Given the description of an element on the screen output the (x, y) to click on. 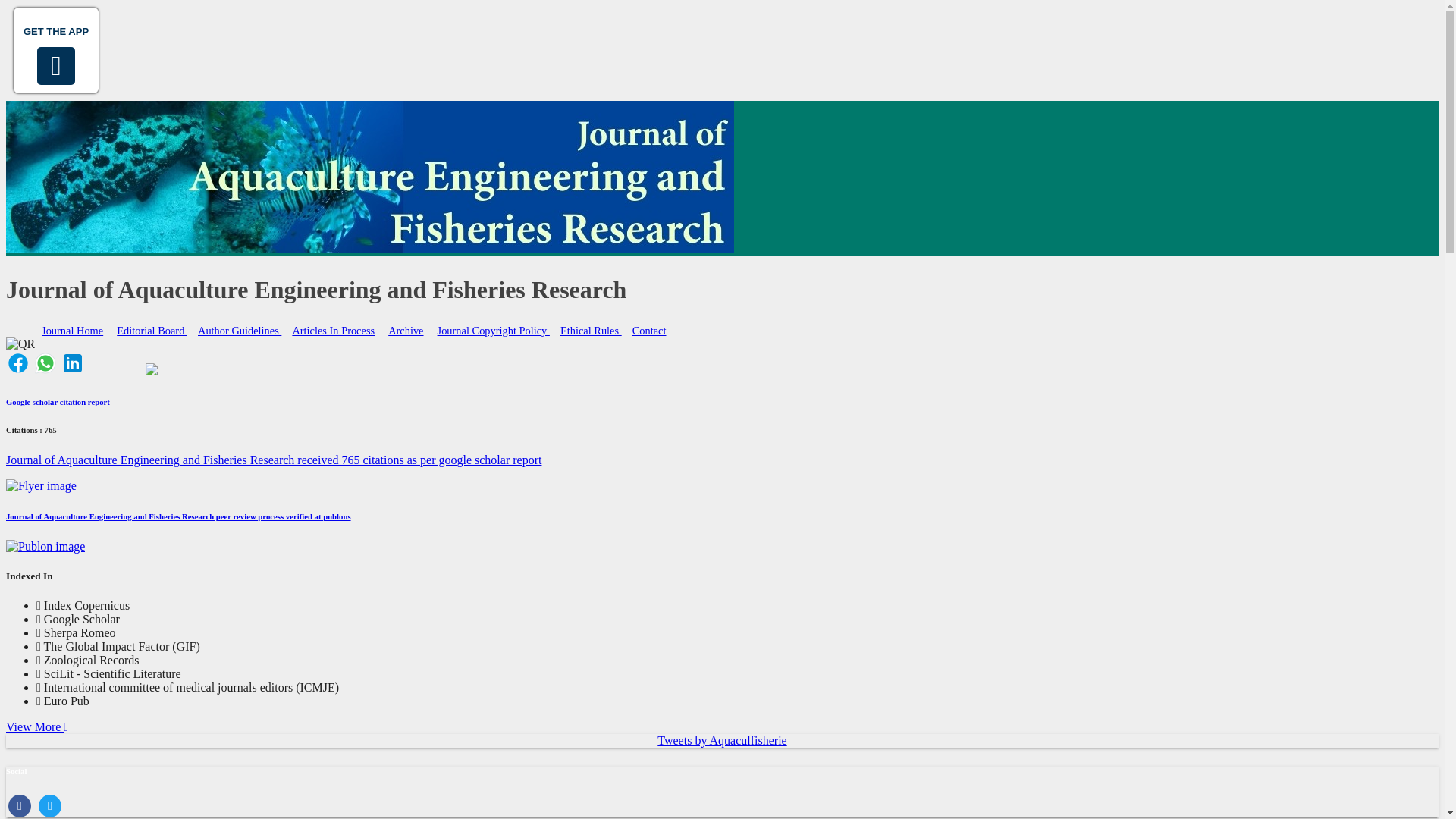
Ethical Rules (590, 330)
View More (36, 726)
Click here (493, 330)
Click here (333, 330)
Share This Article (17, 370)
Author Guidelines (239, 330)
Contact (649, 330)
Journal Copyright Policy (493, 330)
Journal Home (71, 330)
Archive (405, 330)
